Given the description of an element on the screen output the (x, y) to click on. 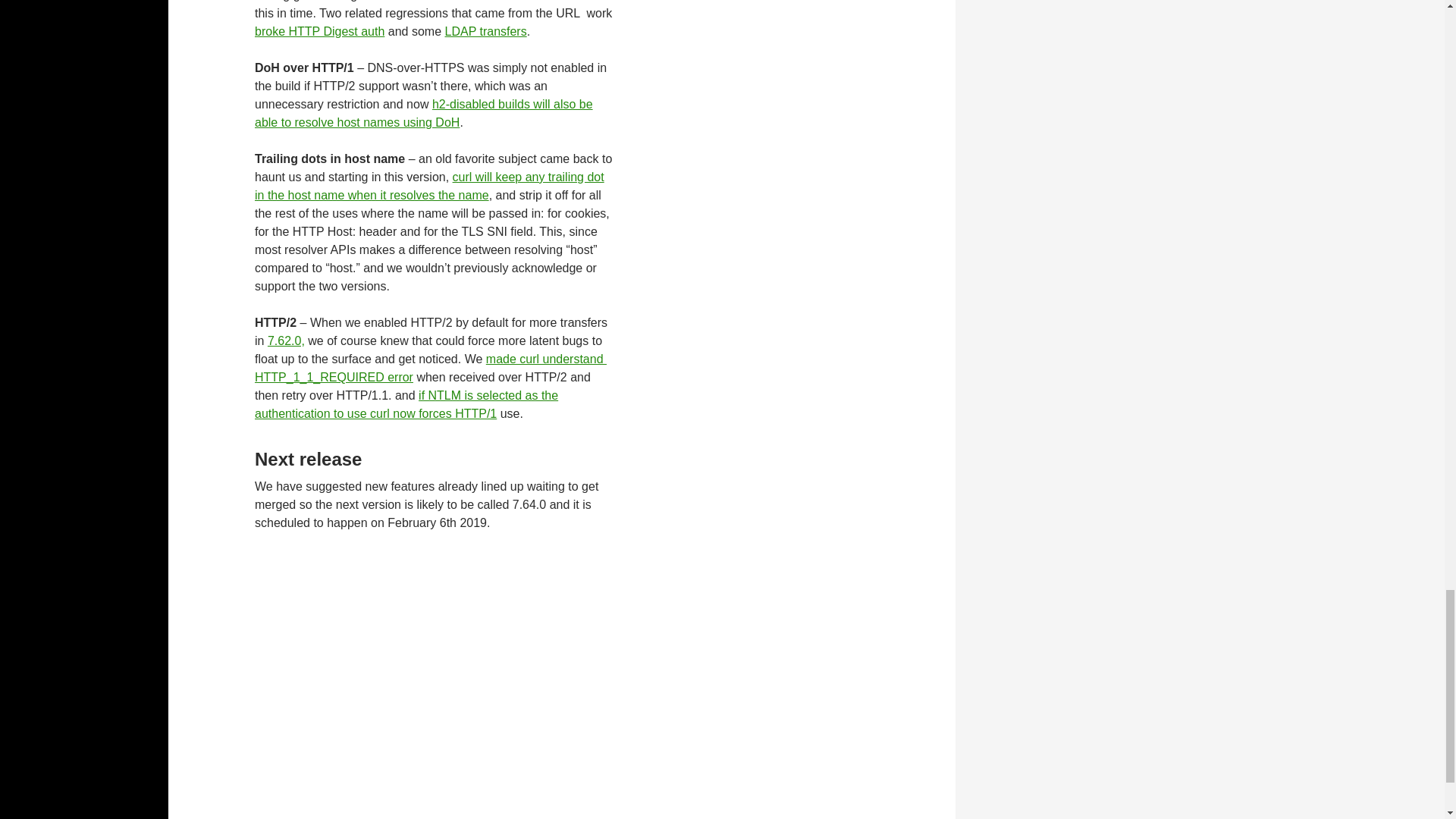
broke HTTP Digest auth (319, 31)
7.62.0, (285, 340)
LDAP transfers (484, 31)
